Given the description of an element on the screen output the (x, y) to click on. 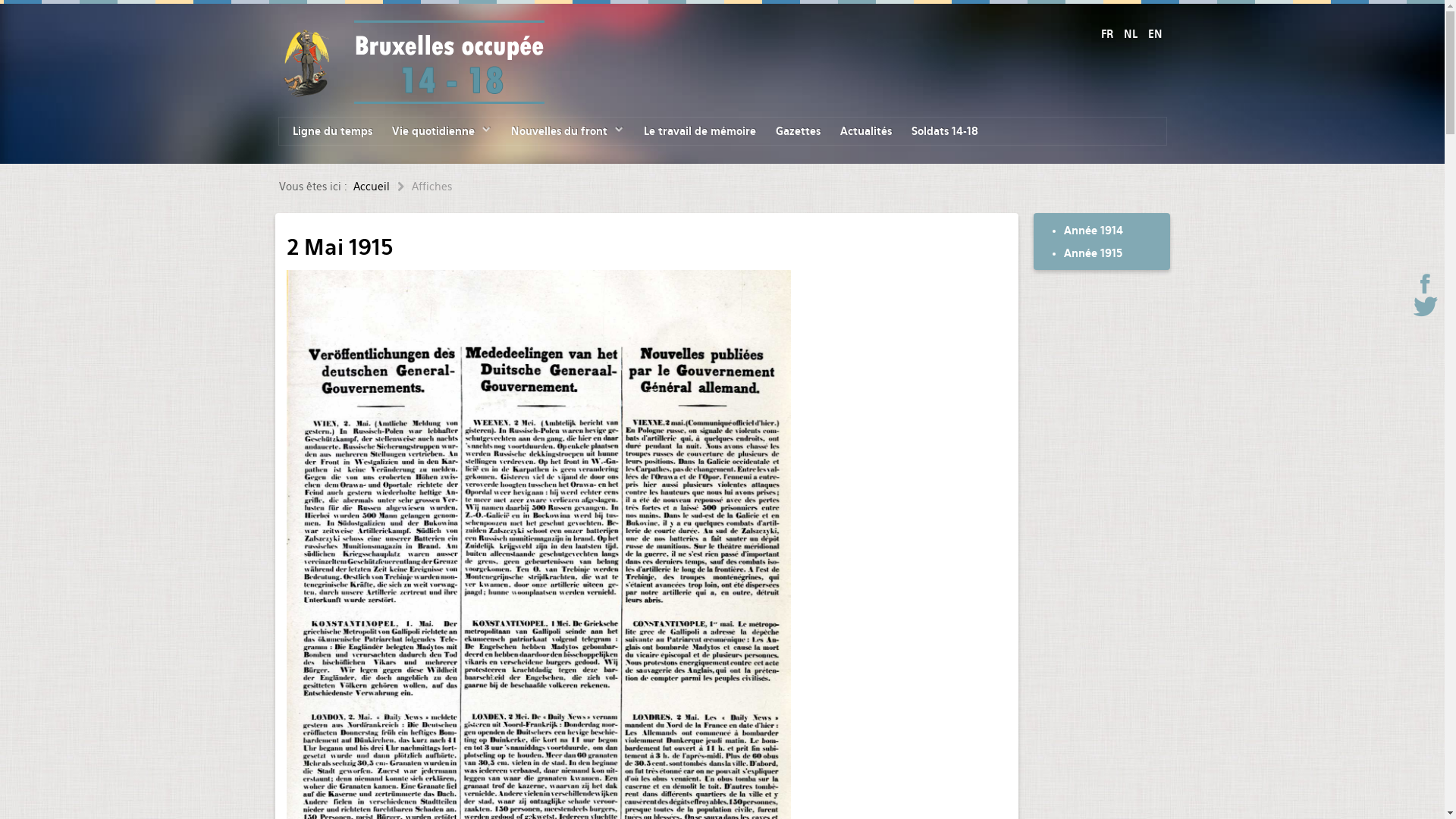
Vie quotidienne Element type: text (440, 130)
Soldats 14-18 Element type: text (944, 130)
2 Mai 1915 Element type: text (339, 247)
Nouvelles du front Element type: text (567, 130)
EN Element type: text (1155, 34)
Ligne du temps Element type: text (332, 130)
FR Element type: text (1108, 34)
Accueil Element type: text (382, 186)
NL Element type: text (1131, 34)
Gazettes Element type: text (796, 130)
